Given the description of an element on the screen output the (x, y) to click on. 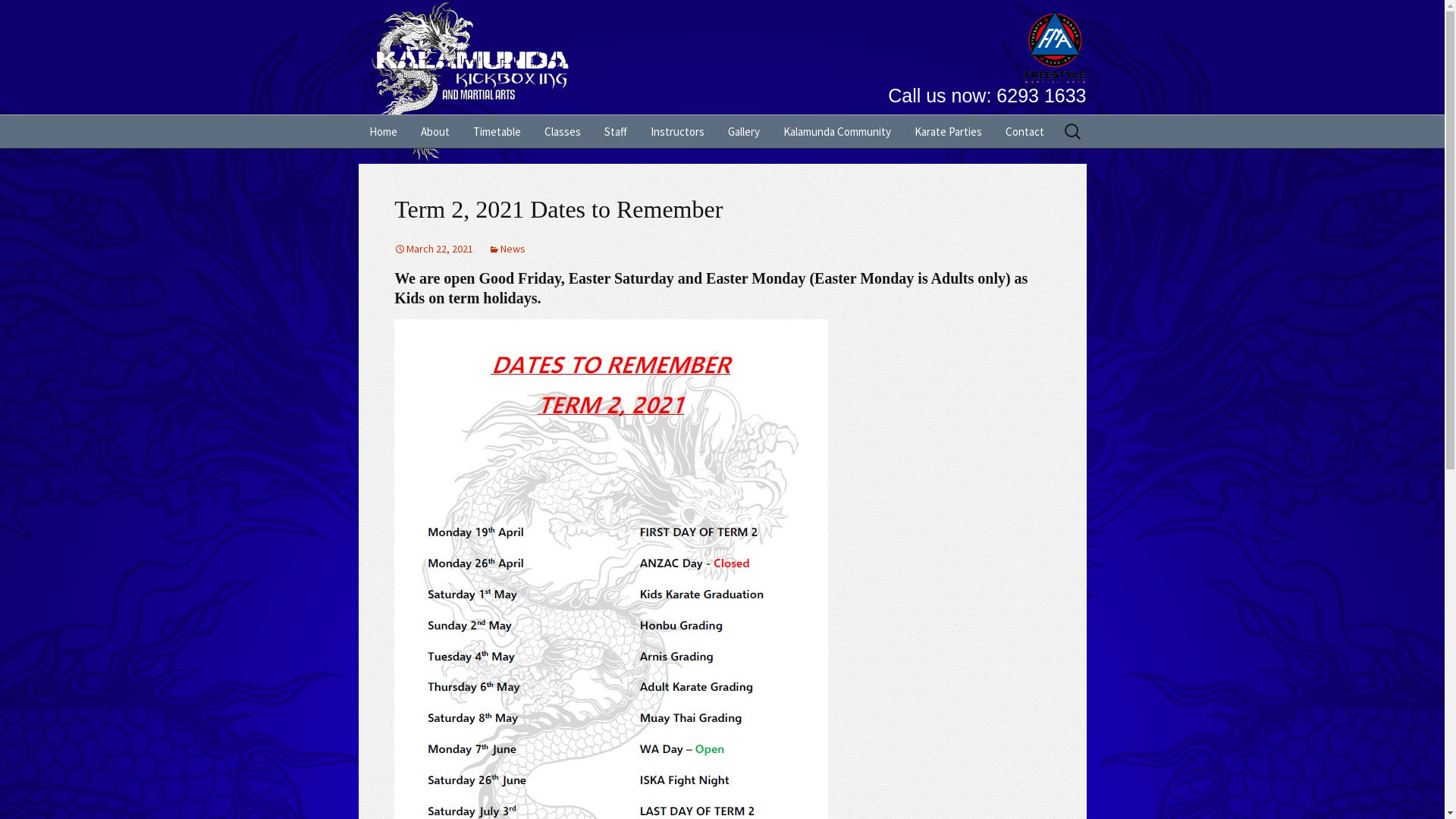
Kalamunda Community Element type: text (835, 131)
Call us now: 6293 1633 Element type: text (721, 83)
Instructors Element type: text (677, 131)
Skip to content Element type: text (357, 114)
Contact Element type: text (1024, 131)
Staff Element type: text (615, 131)
News Element type: text (506, 248)
Karate Parties Element type: text (947, 131)
Timetable Element type: text (496, 131)
March 22, 2021 Element type: text (433, 248)
Search Element type: text (18, 15)
Classes Element type: text (562, 131)
About Element type: text (434, 131)
Home Element type: text (382, 131)
Gallery Element type: text (743, 131)
